Given the description of an element on the screen output the (x, y) to click on. 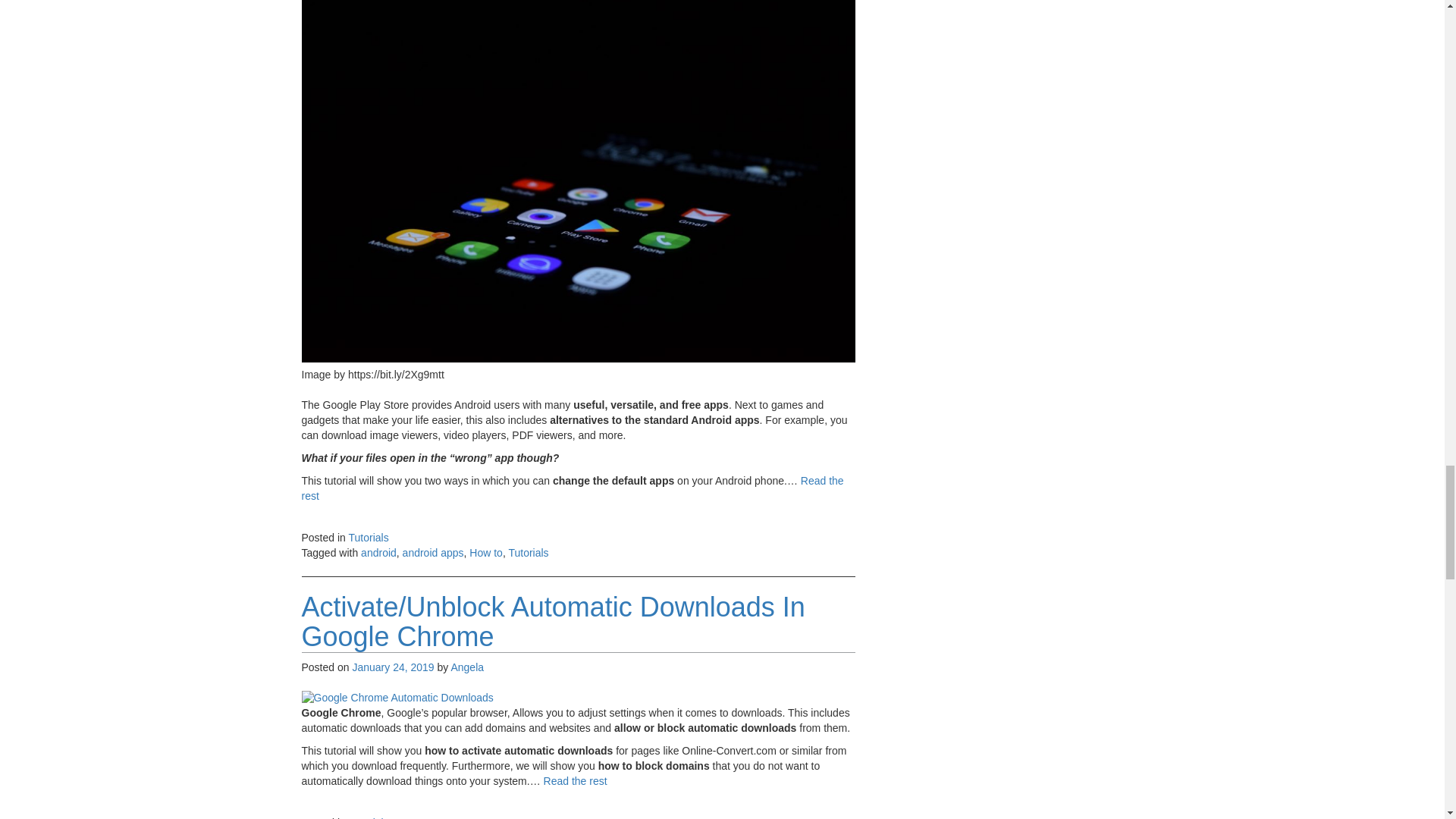
17:30 (392, 666)
